Given the description of an element on the screen output the (x, y) to click on. 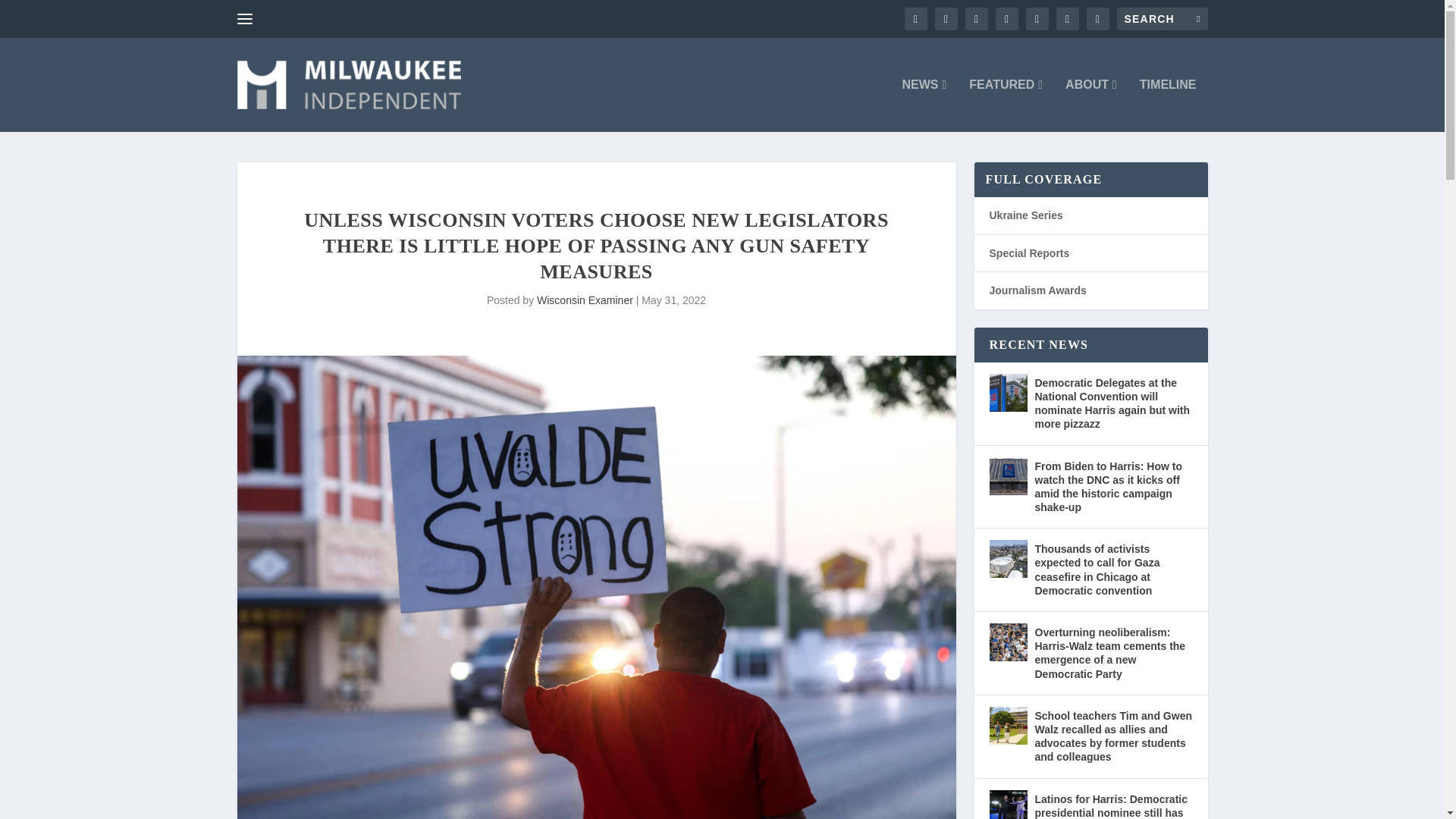
Posts by Wisconsin Examiner (585, 300)
ABOUT (1090, 104)
Search for: (1161, 18)
FEATURED (1005, 104)
TIMELINE (1168, 104)
